Given the description of an element on the screen output the (x, y) to click on. 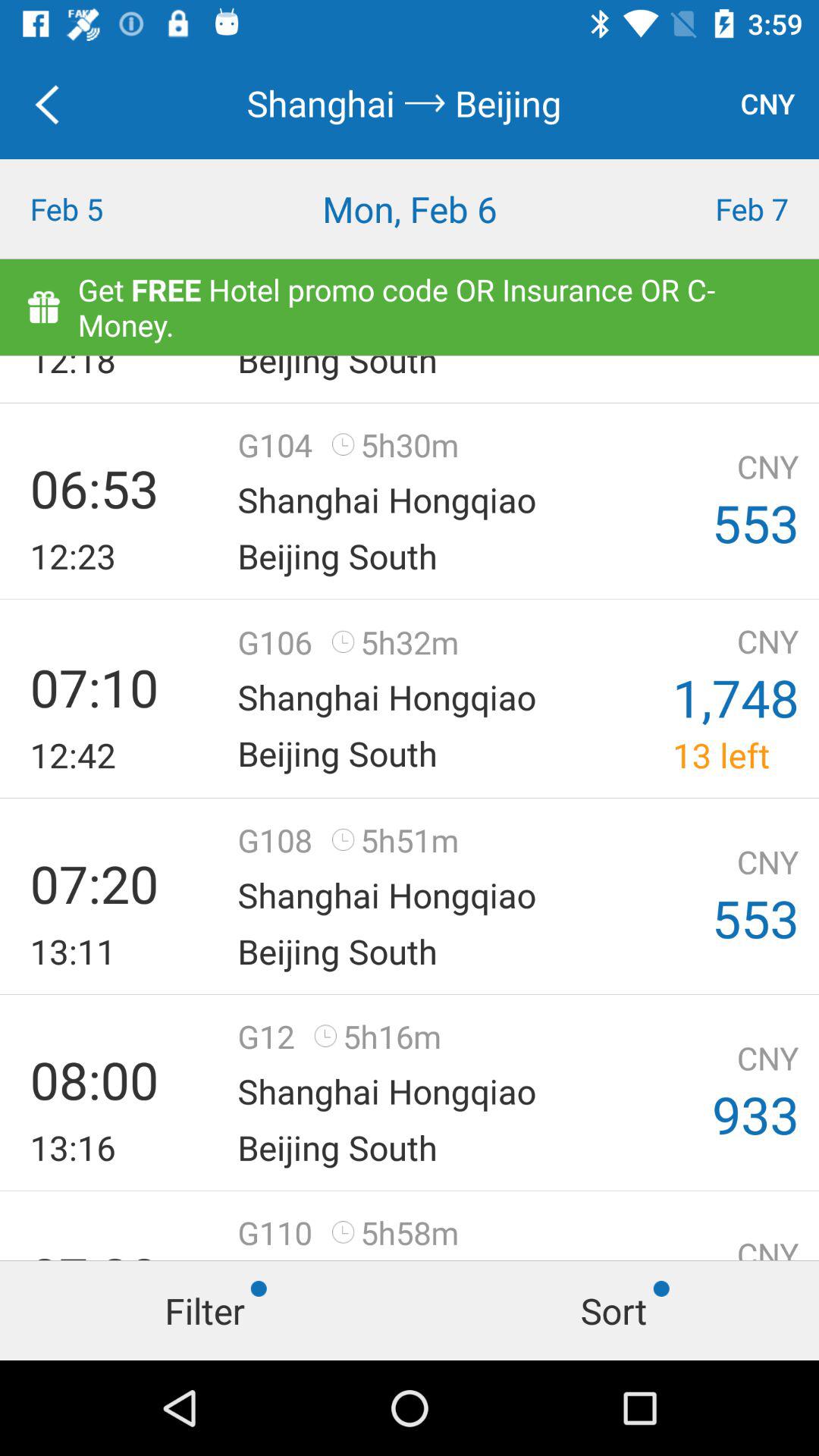
click item next to feb 5 icon (409, 208)
